Given the description of an element on the screen output the (x, y) to click on. 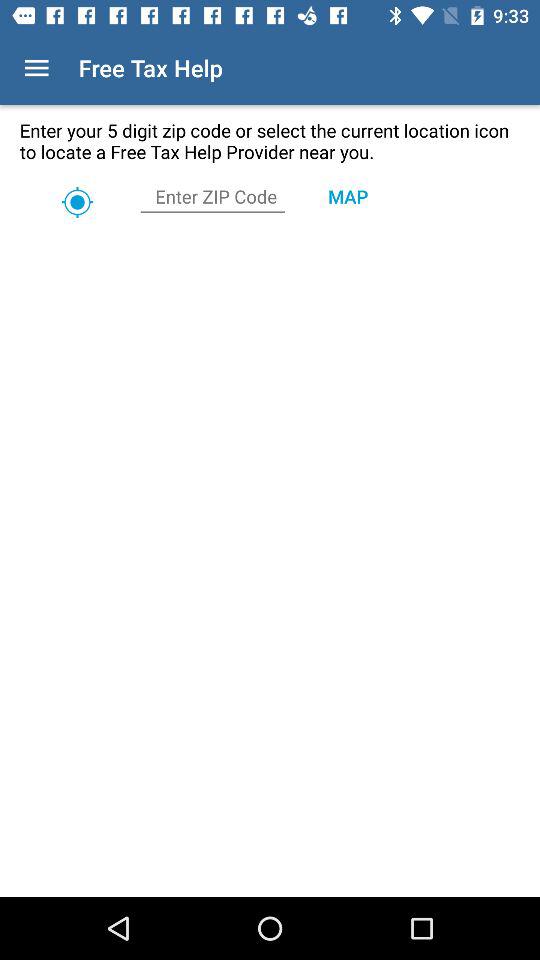
launch the app next to the free tax help app (36, 68)
